Given the description of an element on the screen output the (x, y) to click on. 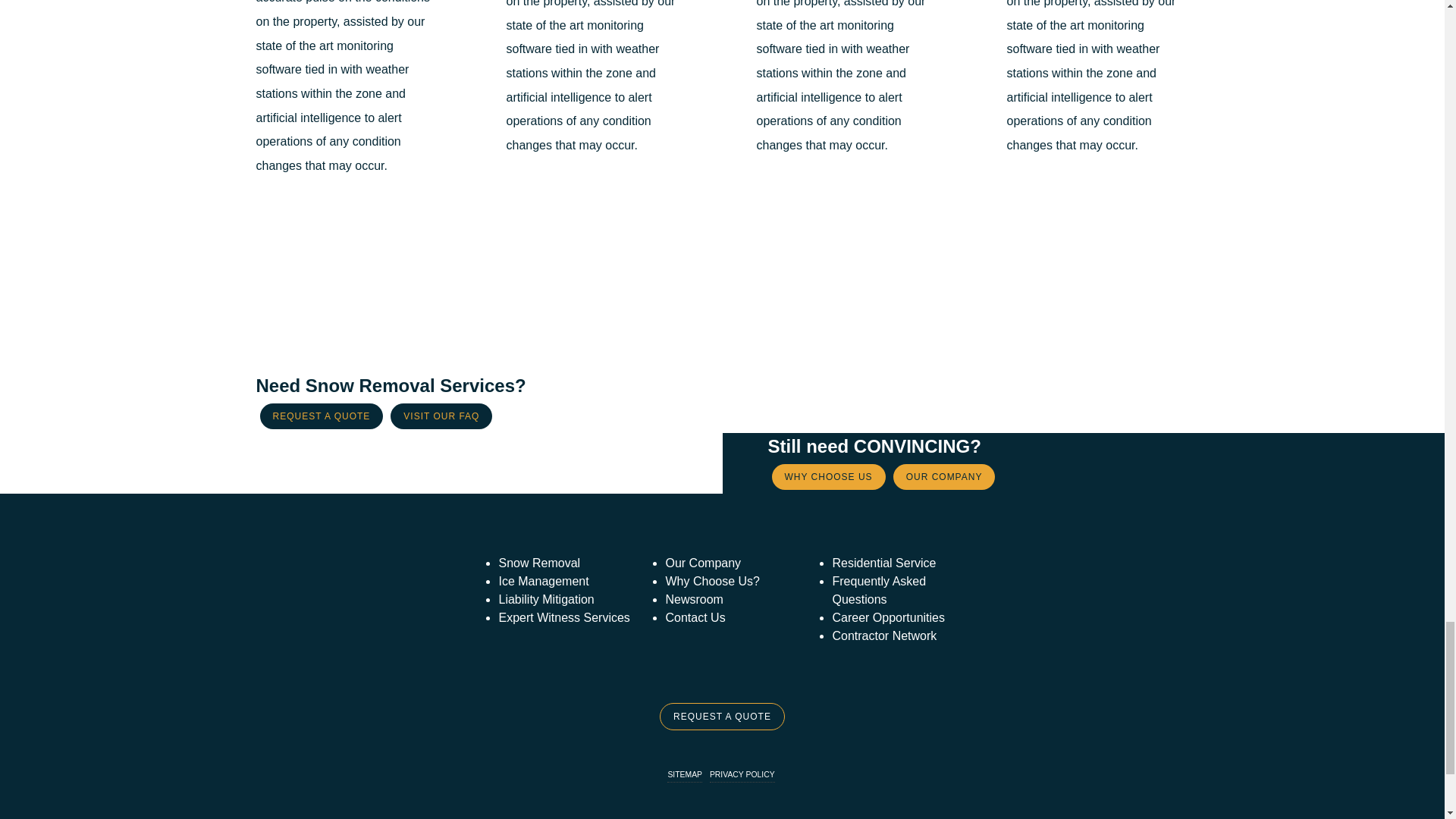
OUR COMPANY (944, 476)
VISIT OUR FAQ (441, 416)
REQUEST A QUOTE (320, 416)
Snow Removal (538, 562)
WHY CHOOSE US (828, 476)
